Given the description of an element on the screen output the (x, y) to click on. 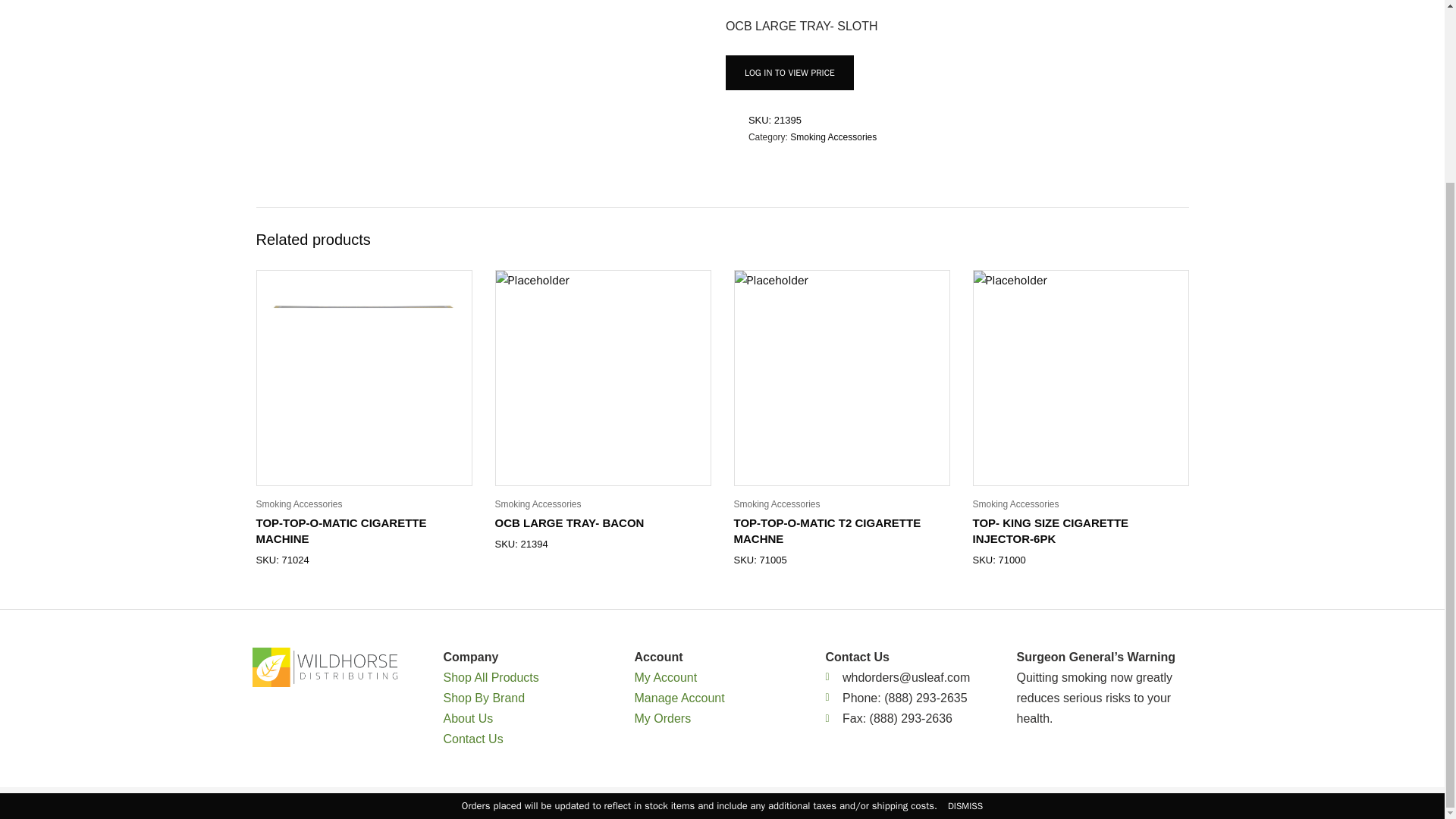
Smoking Accessories (299, 503)
TOP-TOP-O-MATIC CIGARETTE MACHINE (341, 530)
OCB LARGE TRAY- BACON (569, 522)
Smoking Accessories (537, 503)
TOP- KING SIZE CIGARETTE INJECTOR-6PK (1050, 530)
TOP-TOP-O-MATIC T2 CIGARETTE MACHNE (827, 530)
LOG IN TO VIEW PRICE (789, 72)
TOP-TOP-O-MATIC CIGARETTE MACHINE (341, 530)
Smoking Accessories (833, 136)
